Given the description of an element on the screen output the (x, y) to click on. 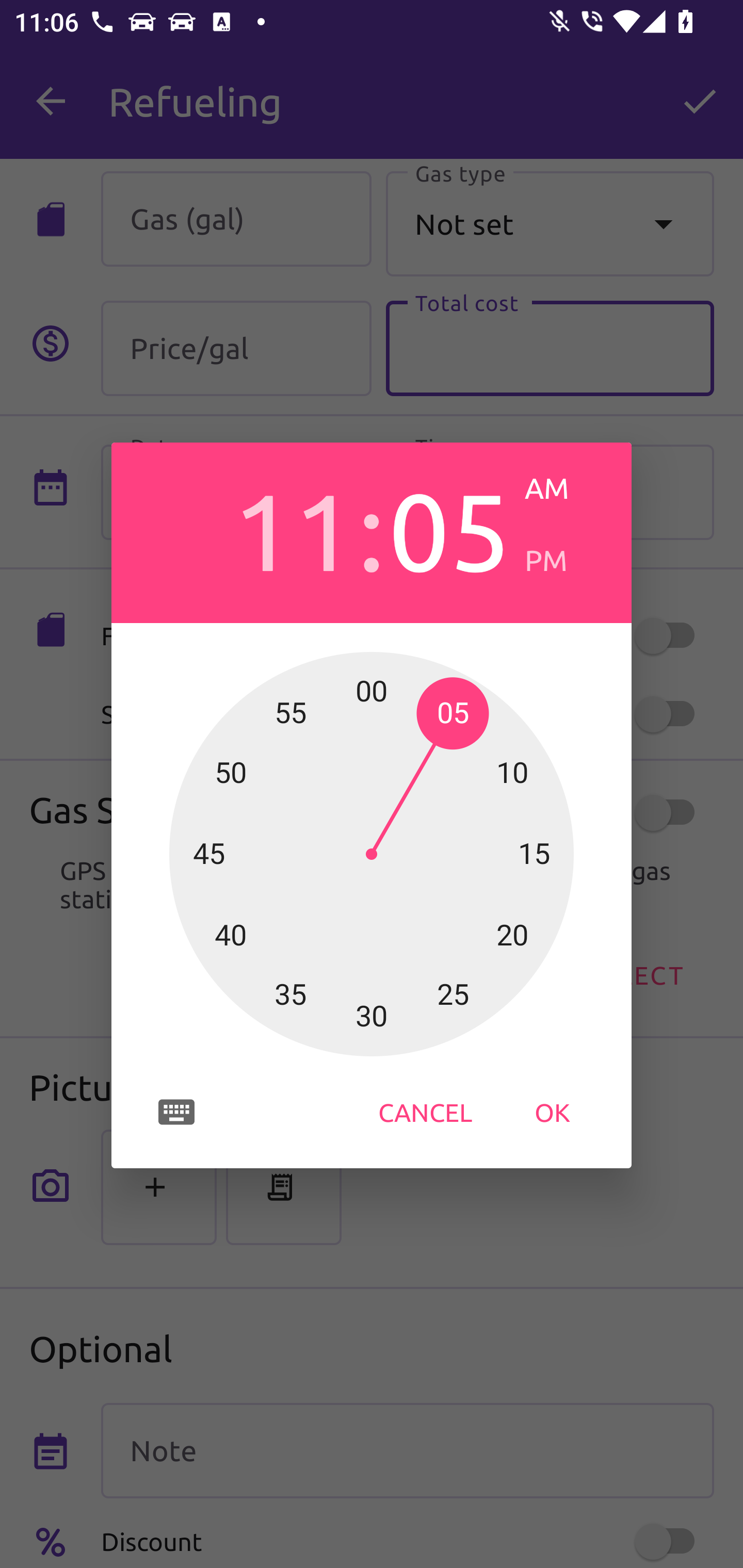
AM (563, 488)
11 (293, 528)
05 (449, 528)
PM (563, 560)
CANCEL (425, 1111)
OK (552, 1111)
Switch to text input mode for the time input. (175, 1112)
